Given the description of an element on the screen output the (x, y) to click on. 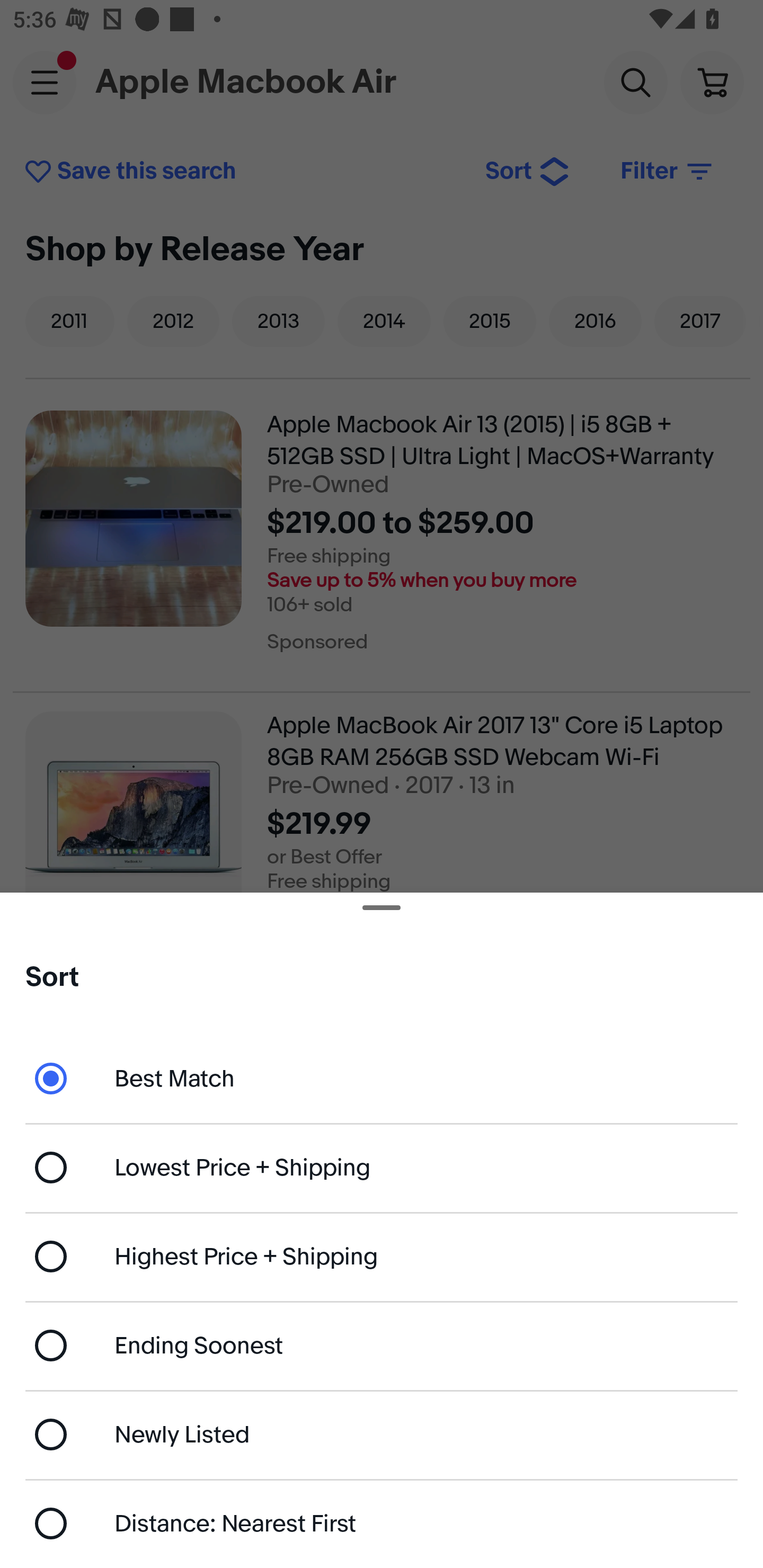
Best Match - currently selected Best Match (381, 1077)
Lowest Price + Shipping (381, 1167)
Highest Price + Shipping (381, 1256)
Ending Soonest (381, 1345)
Newly Listed (381, 1433)
Distance: Nearest First (381, 1523)
